Given the description of an element on the screen output the (x, y) to click on. 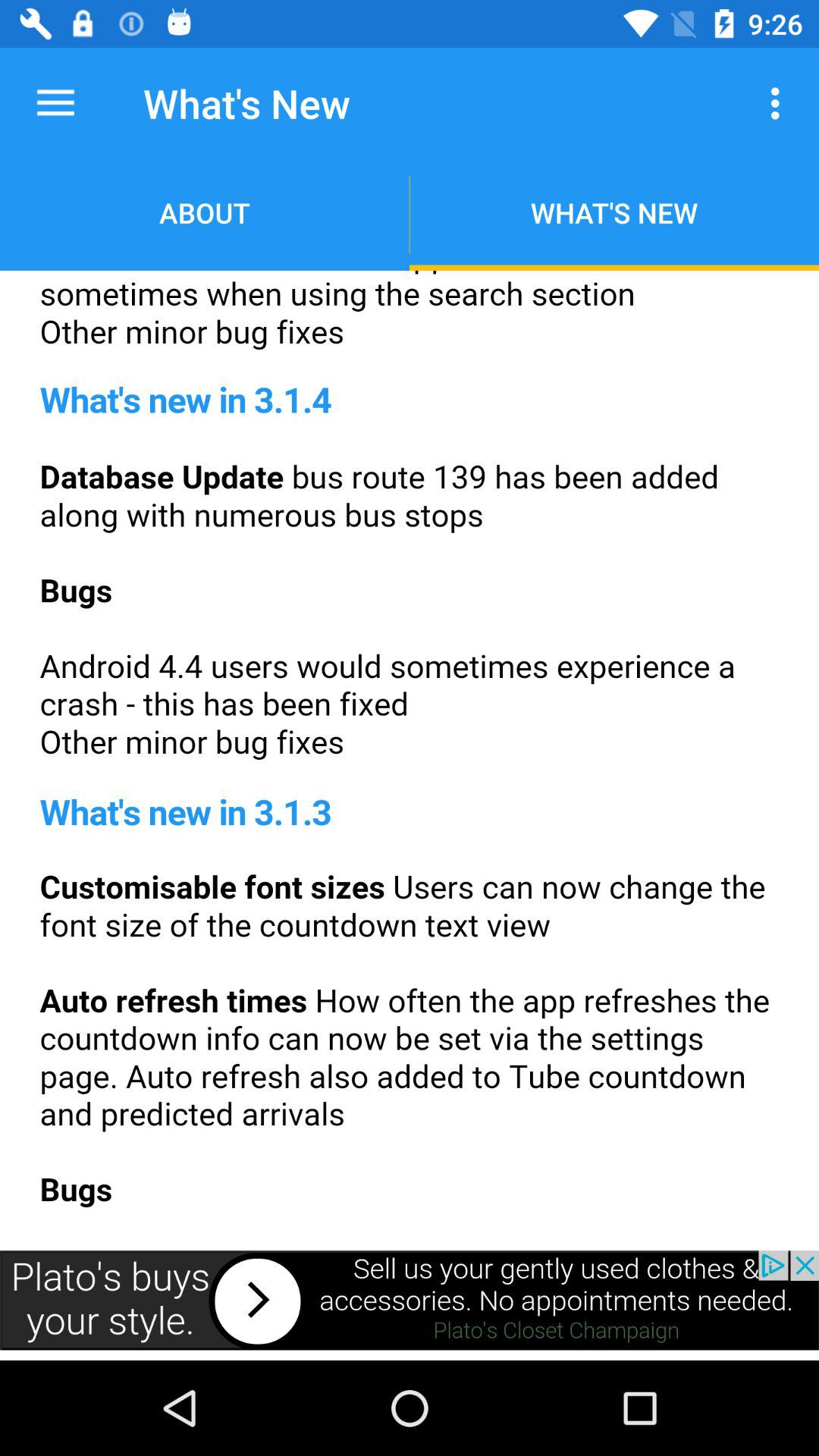
watch advertisement (409, 1300)
